Given the description of an element on the screen output the (x, y) to click on. 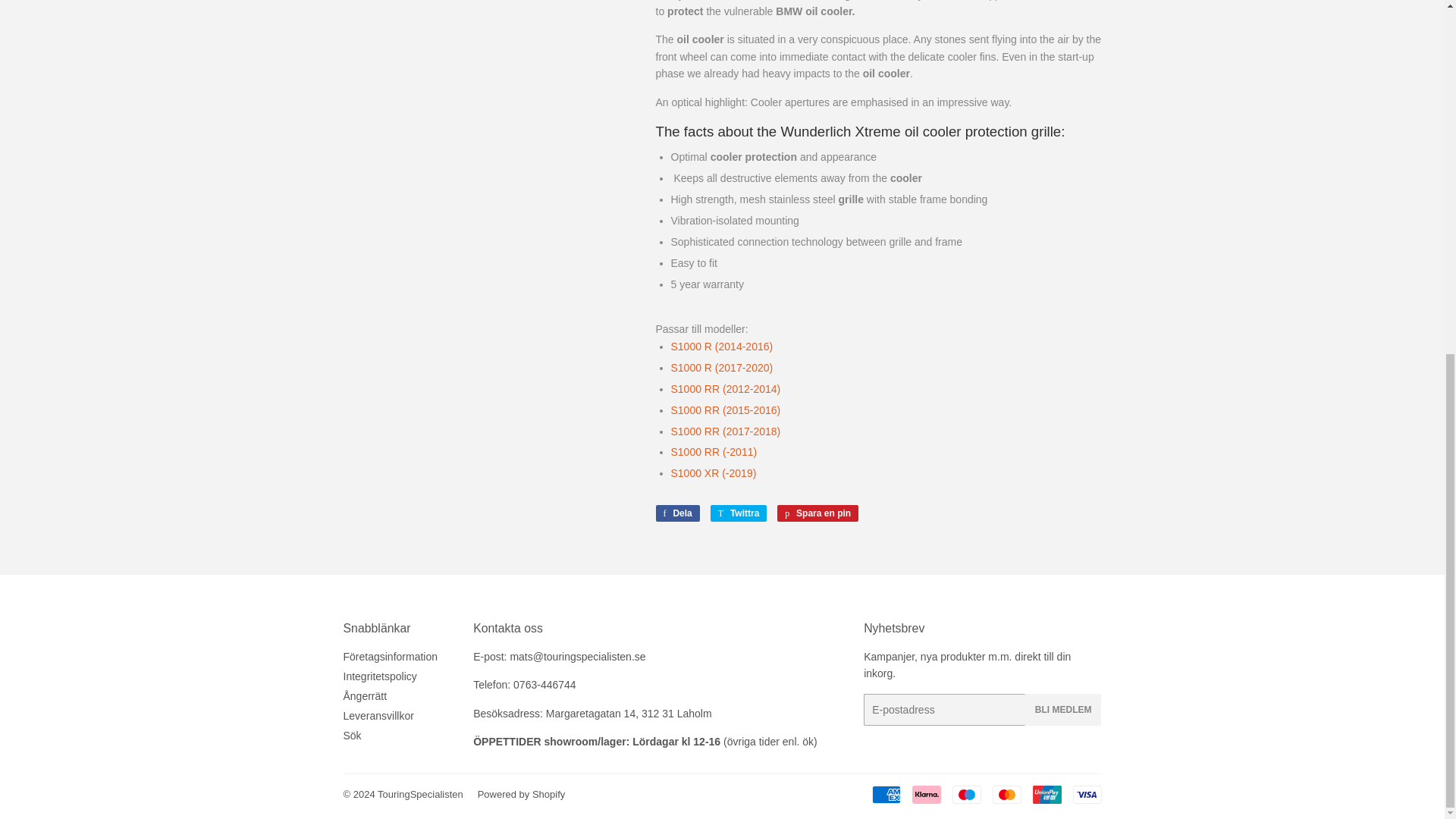
Union Pay (1046, 794)
Maestro (966, 794)
Mastercard (1005, 794)
American Express (886, 794)
Klarna (925, 794)
Visa (1085, 794)
